Given the description of an element on the screen output the (x, y) to click on. 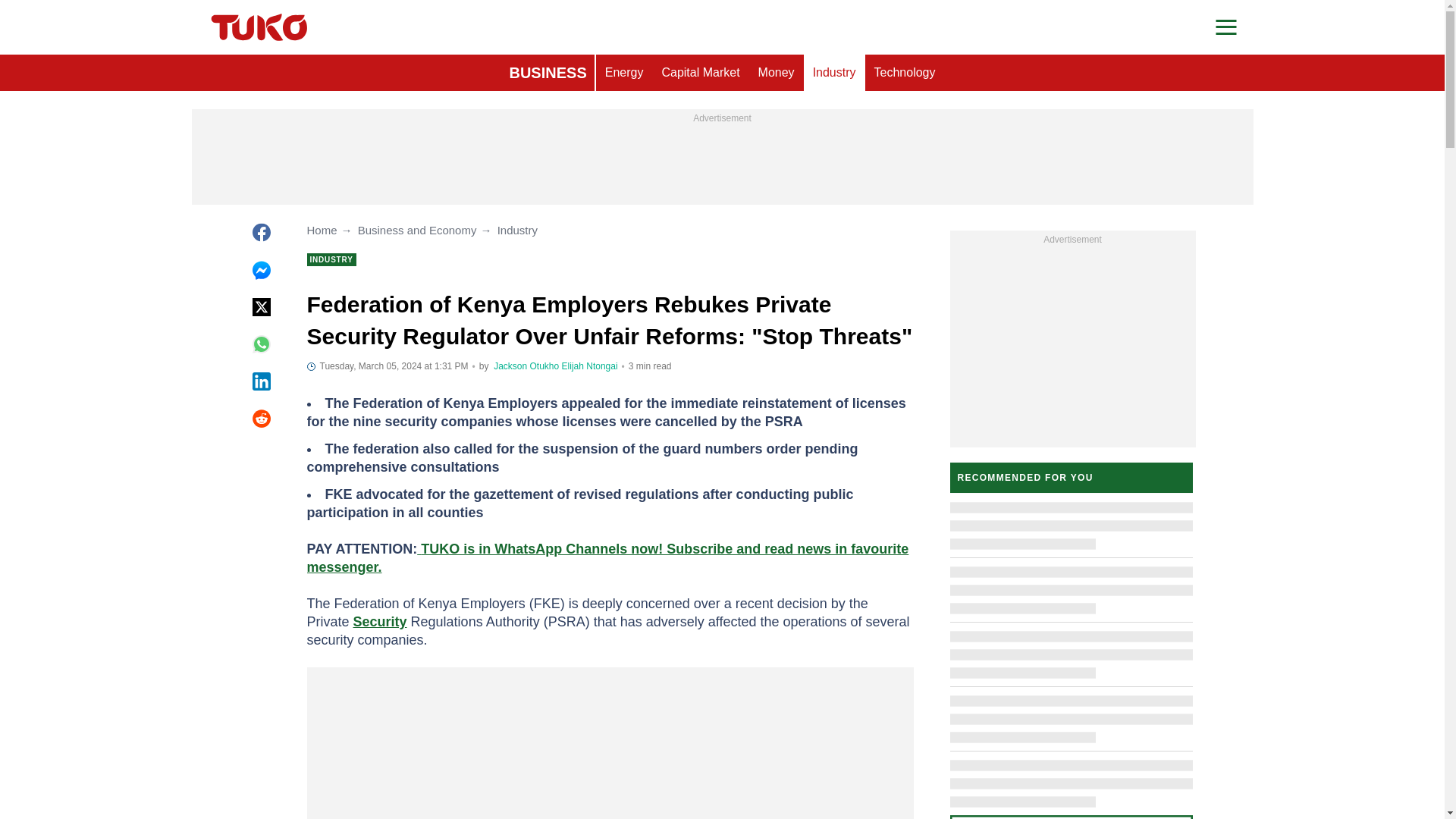
Capital Market (700, 72)
Technology (904, 72)
Money (776, 72)
Industry (833, 72)
BUSINESS (547, 72)
Author page (589, 366)
Energy (623, 72)
Author page (526, 366)
